Given the description of an element on the screen output the (x, y) to click on. 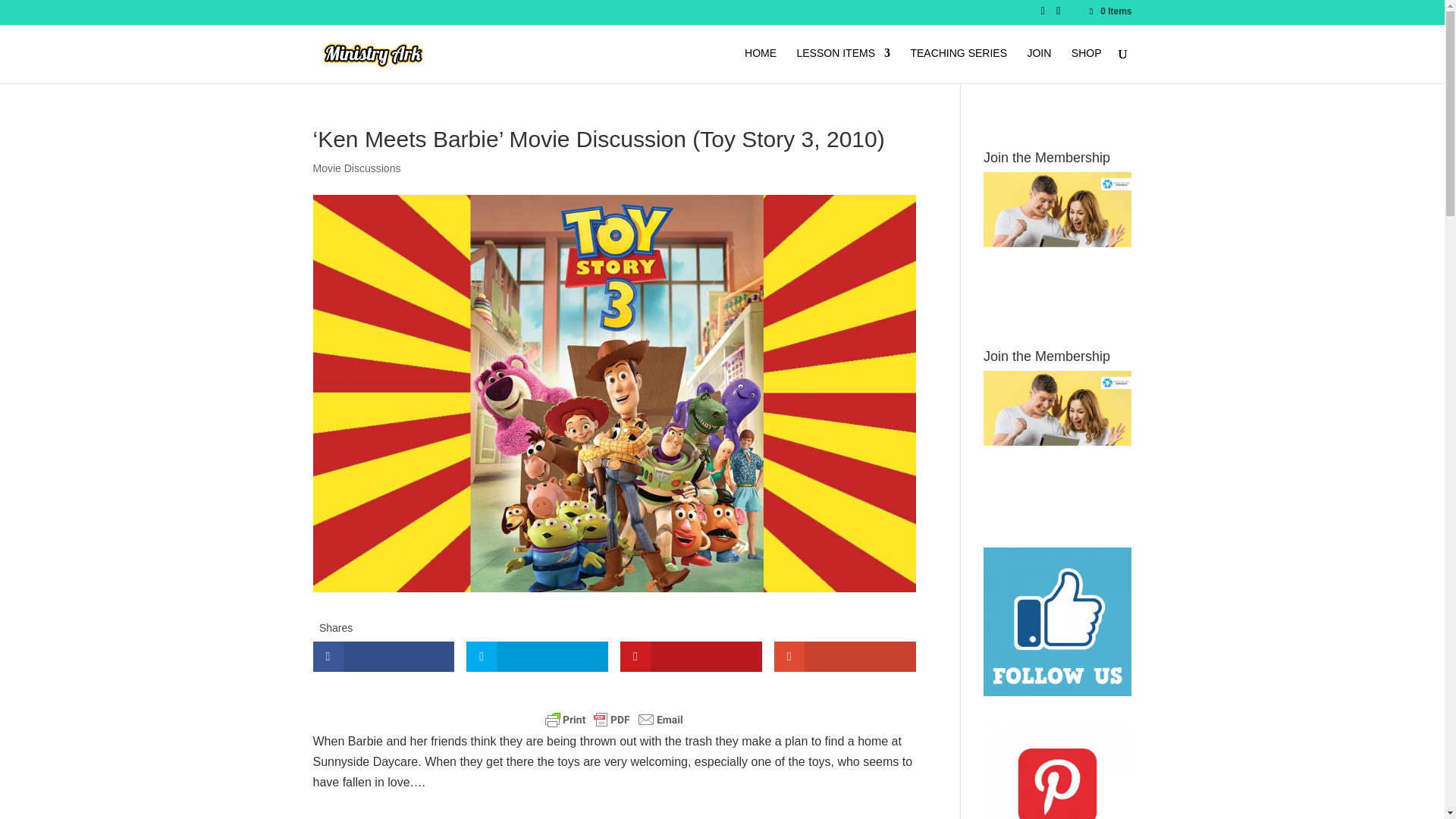
LESSON ITEMS (842, 65)
TEACHING SERIES (958, 65)
Movie Discussions (356, 168)
0 Items (1108, 10)
HOME (760, 65)
